Given the description of an element on the screen output the (x, y) to click on. 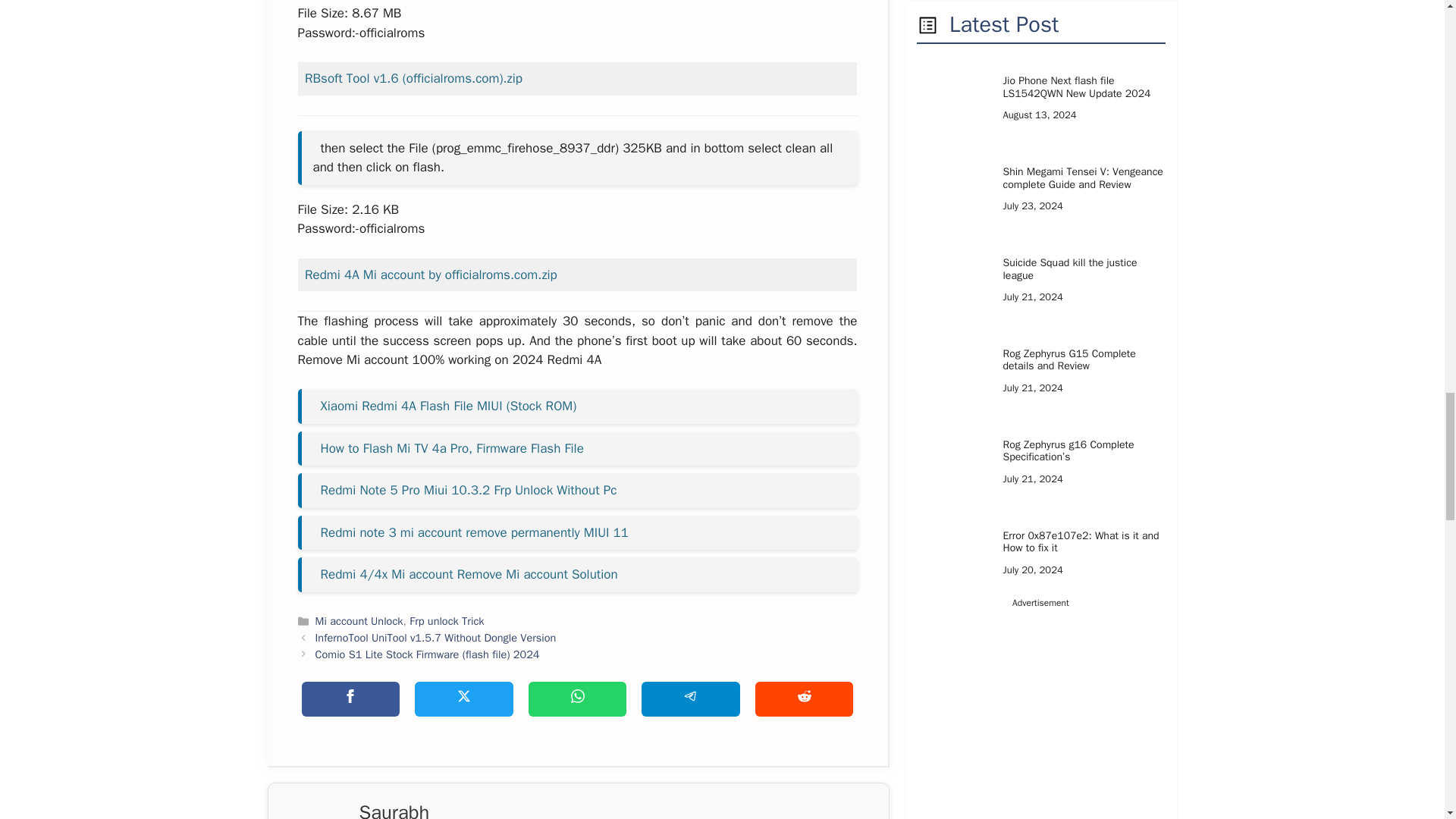
Frp unlock Trick (446, 621)
Mi account Unlock (359, 621)
Redmi Note 5 Pro Miui 10.3.2 Frp Unlock Without Pc (467, 489)
Redmi 4A Mi account by officialroms.com.zip (430, 274)
Redmi note 3 mi account remove permanently MIUI 11 (473, 532)
How to Flash Mi TV 4a Pro, Firmware Flash File (451, 448)
InfernoTool UniTool v1.5.7 Without Dongle Version (435, 637)
